Given the description of an element on the screen output the (x, y) to click on. 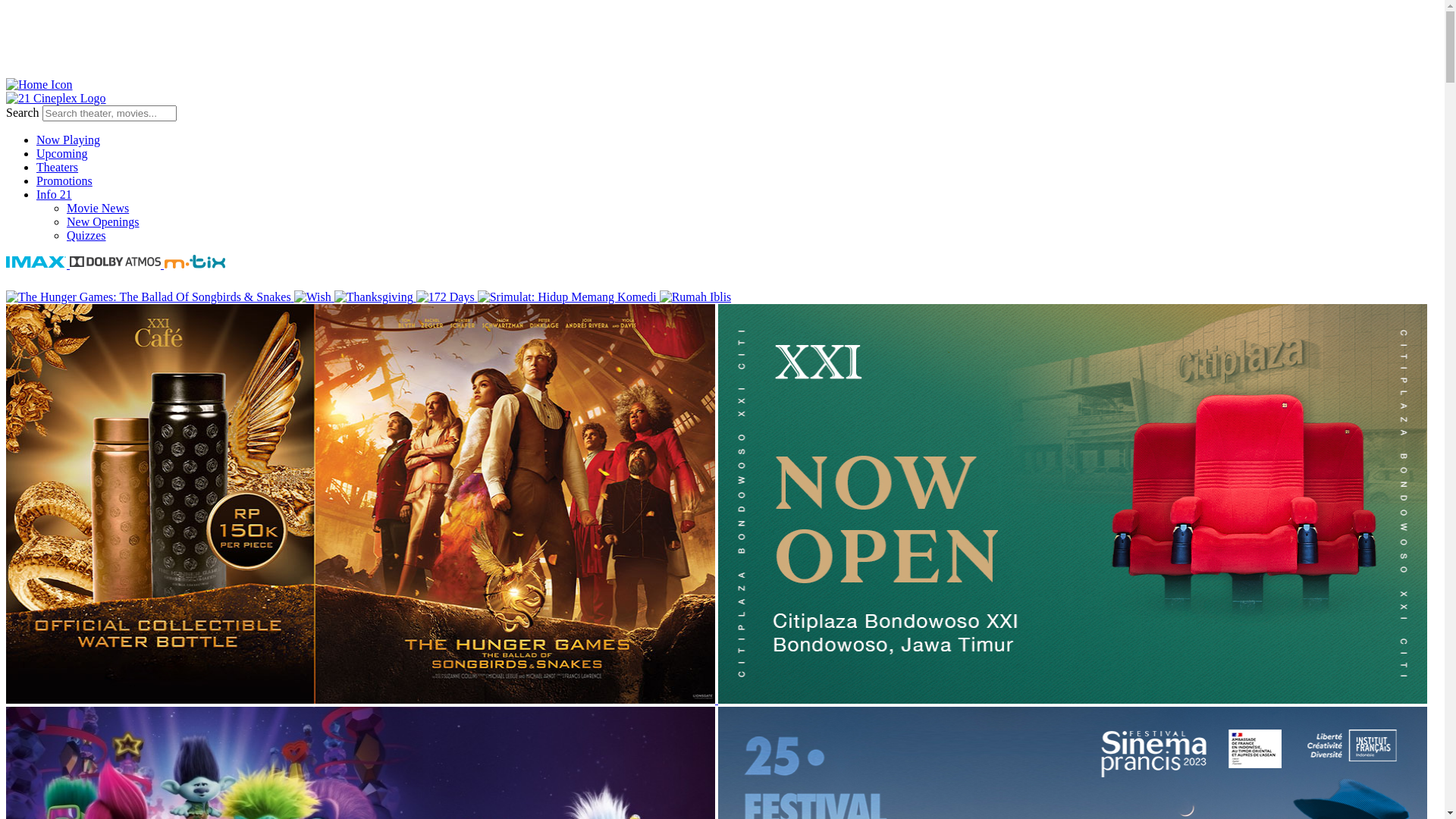
Advertisement Element type: hover (721, 40)
Promotions Element type: text (737, 181)
Upcoming Element type: text (737, 153)
Movie News Element type: text (752, 208)
Quizzes Element type: text (752, 235)
Now Playing Element type: text (737, 140)
New Openings Element type: text (752, 222)
Info 21 Element type: text (737, 194)
Theaters Element type: text (737, 167)
